Given the description of an element on the screen output the (x, y) to click on. 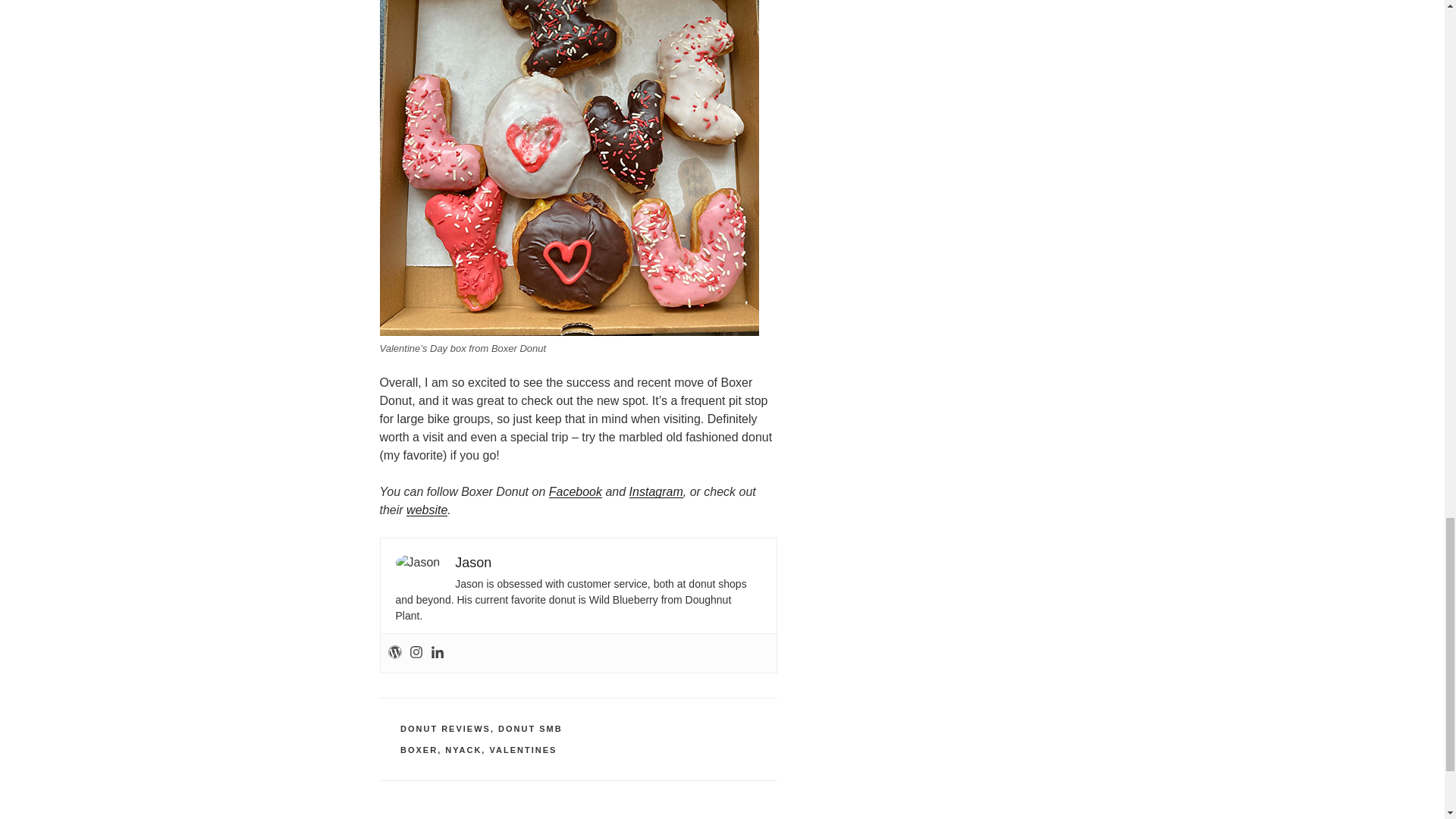
Facebook (575, 491)
Instagram (655, 491)
VALENTINES (522, 749)
DONUT SMB (529, 728)
website (426, 509)
NYACK (463, 749)
Jason (473, 562)
DONUT REVIEWS (445, 728)
BOXER (419, 749)
